Given the description of an element on the screen output the (x, y) to click on. 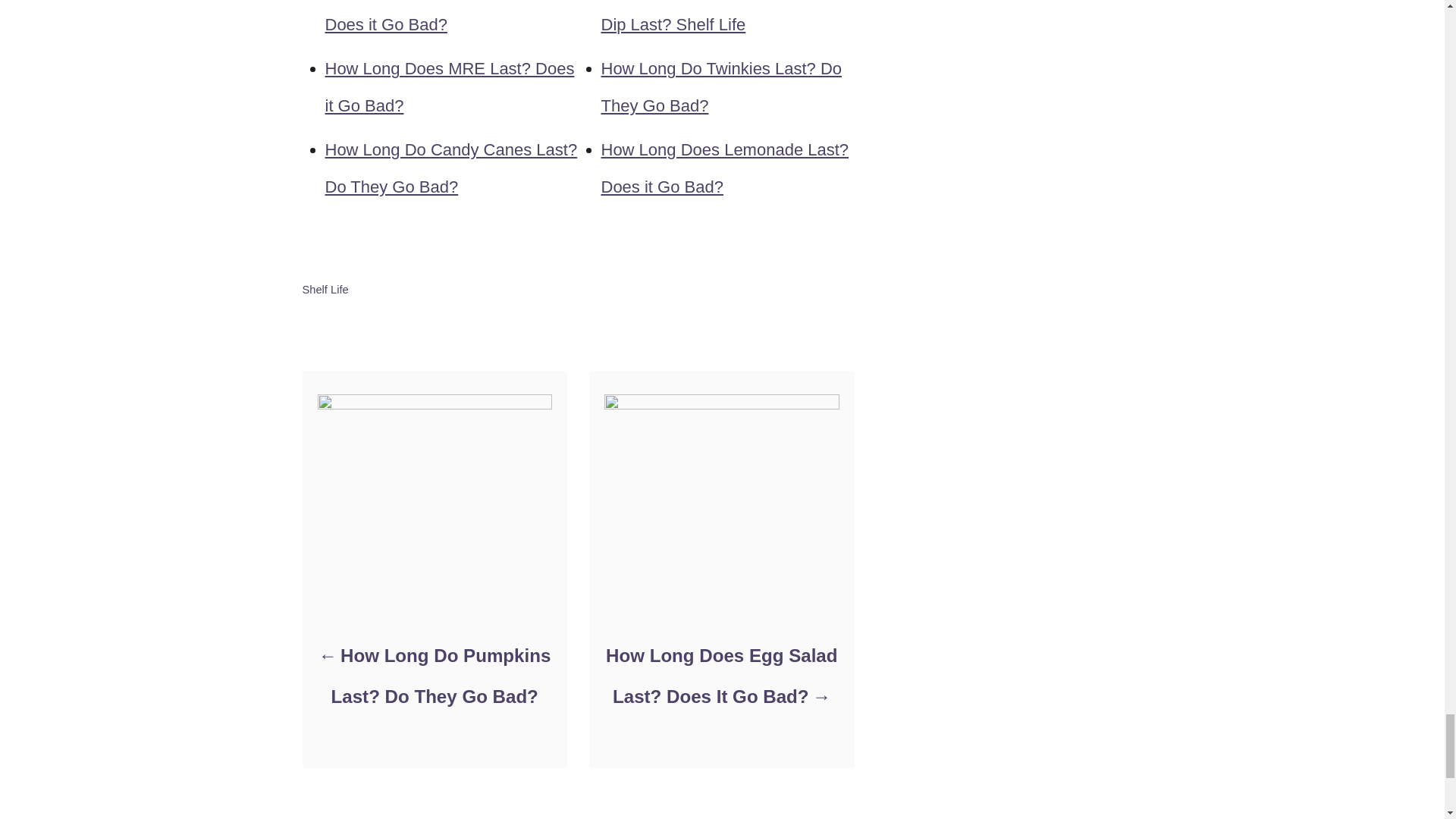
How Long Does Asparagus Last? Does it Go Bad? (448, 17)
How Long Do Candy Canes Last? Do They Go Bad? (450, 167)
How Long Does French Onion Dip Last? Shelf Life (712, 17)
How Long Does MRE Last? Does it Go Bad? (448, 86)
